Given the description of an element on the screen output the (x, y) to click on. 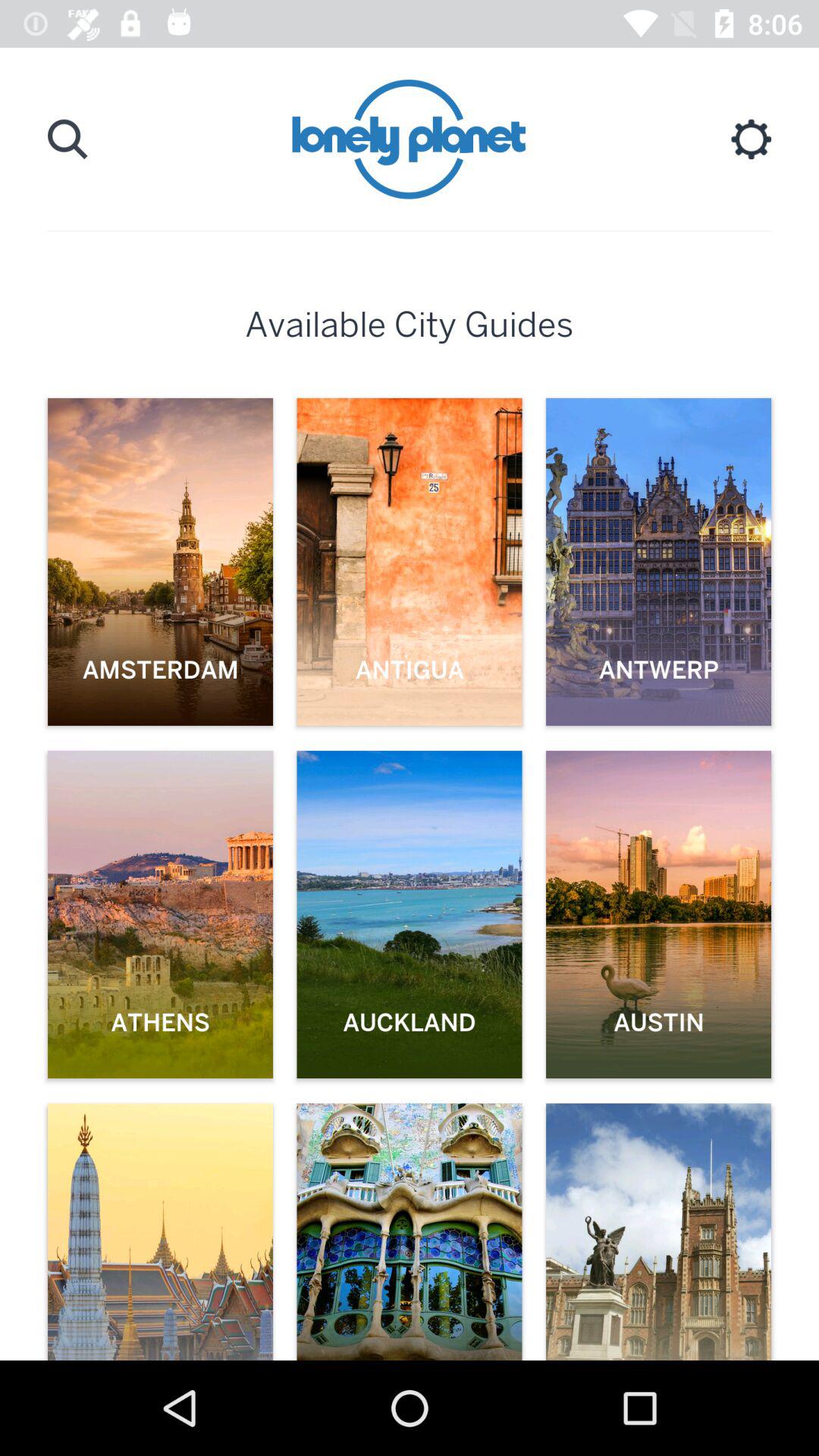
go to the setting (751, 139)
